Given the description of an element on the screen output the (x, y) to click on. 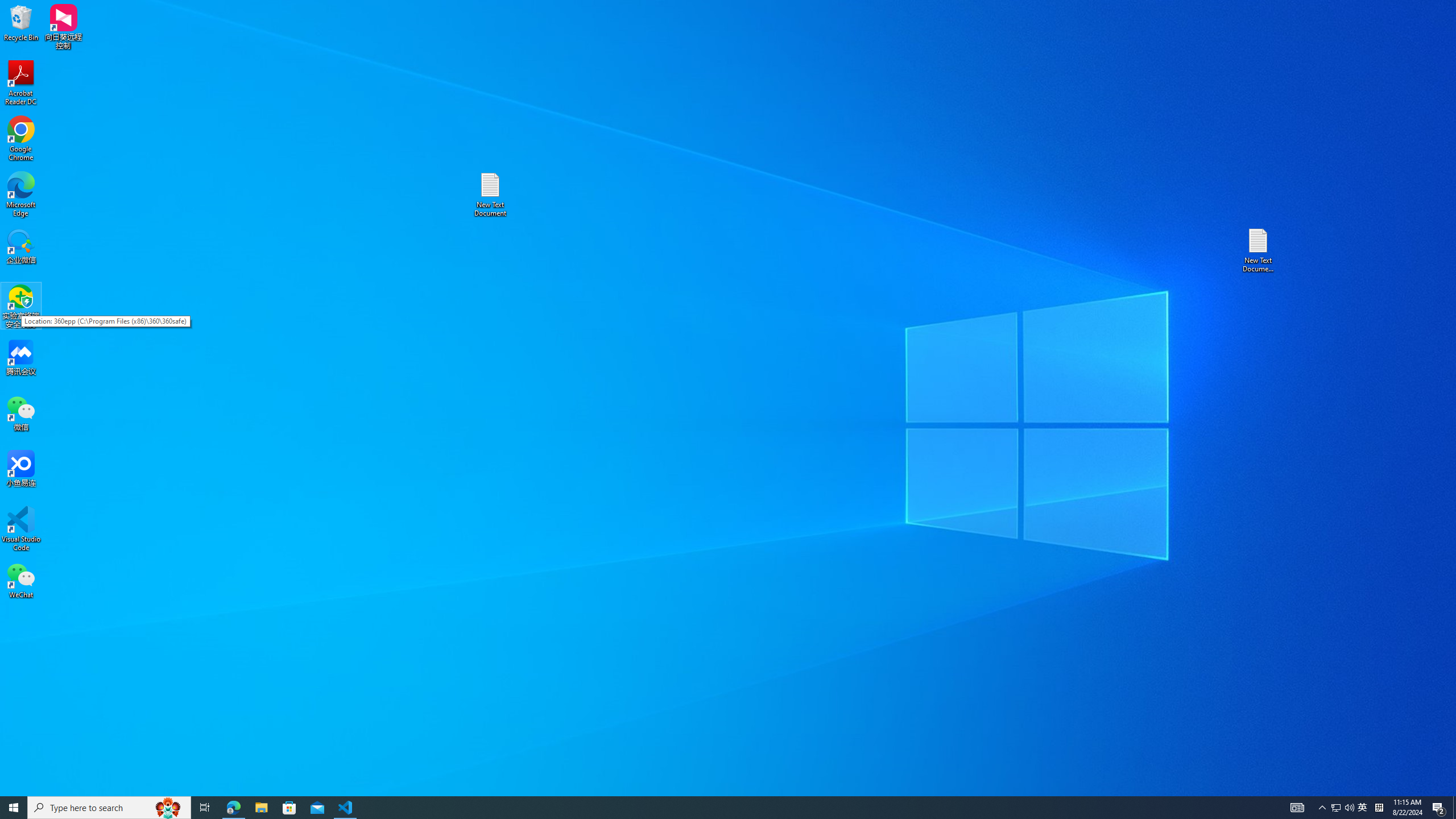
Start (1362, 807)
WeChat (13, 807)
Microsoft Store (21, 580)
User Promoted Notification Area (289, 807)
Acrobat Reader DC (1342, 807)
File Explorer (21, 82)
Notification Chevron (261, 807)
New Text Document (1322, 807)
Search highlights icon opens search home window (489, 194)
New Text Document (2) (167, 807)
Visual Studio Code (1258, 250)
Q2790: 100% (21, 528)
